Given the description of an element on the screen output the (x, y) to click on. 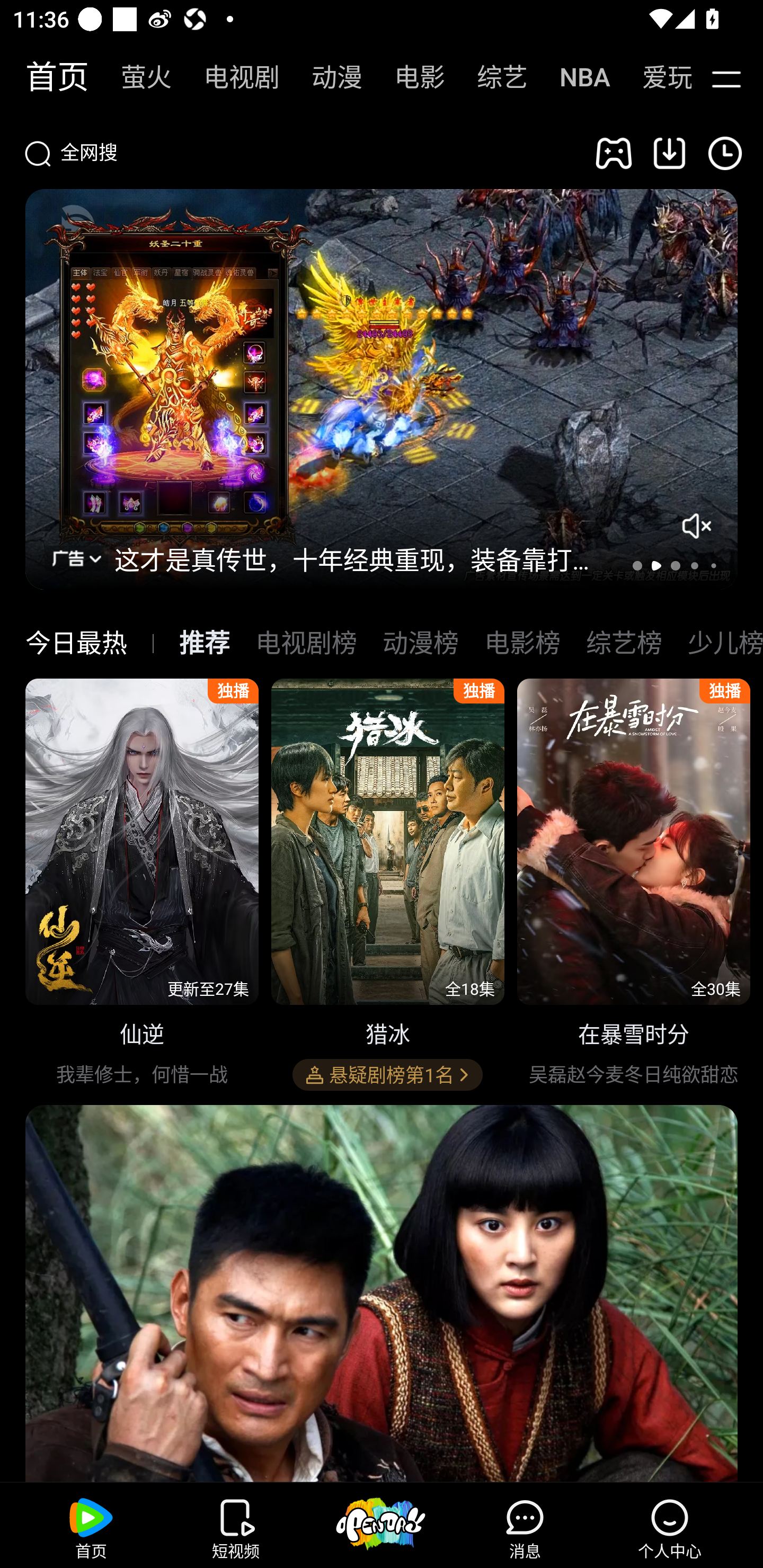
首页 (47, 77)
萤火 (136, 77)
电视剧 (231, 77)
动漫 (327, 77)
电影 (409, 77)
综艺 (492, 77)
NBA (575, 77)
爱玩 (653, 77)
全网搜 (297, 152)
这才是真传世，十年经典重现，装备靠打，1:1复刻还原！ (362, 558)
推荐 (204, 643)
电视剧榜 (306, 643)
动漫榜 (420, 643)
电影榜 (522, 643)
综艺榜 (623, 643)
少儿榜 (725, 643)
仙逆 我辈修士，何惜一战 (141, 887)
猎冰 悬疑剧榜第1名 (387, 887)
在暴雪时分 吴磊赵今麦冬日纯欲甜恋 (633, 887)
悬疑剧榜第1名 (387, 1074)
